Given the description of an element on the screen output the (x, y) to click on. 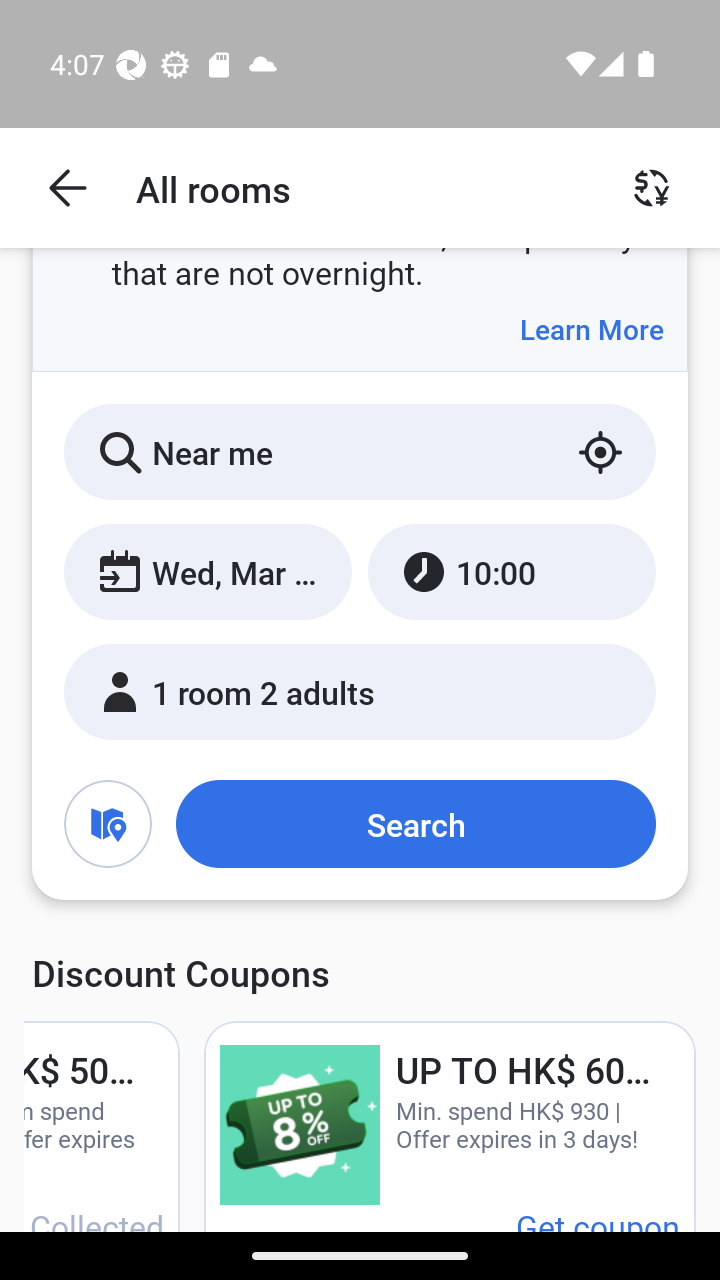
Learn More (591, 329)
Near me (359, 452)
Wed, Mar 13 (208, 571)
10:00 (511, 571)
1 room 2 adults (359, 691)
Search (415, 823)
